Given the description of an element on the screen output the (x, y) to click on. 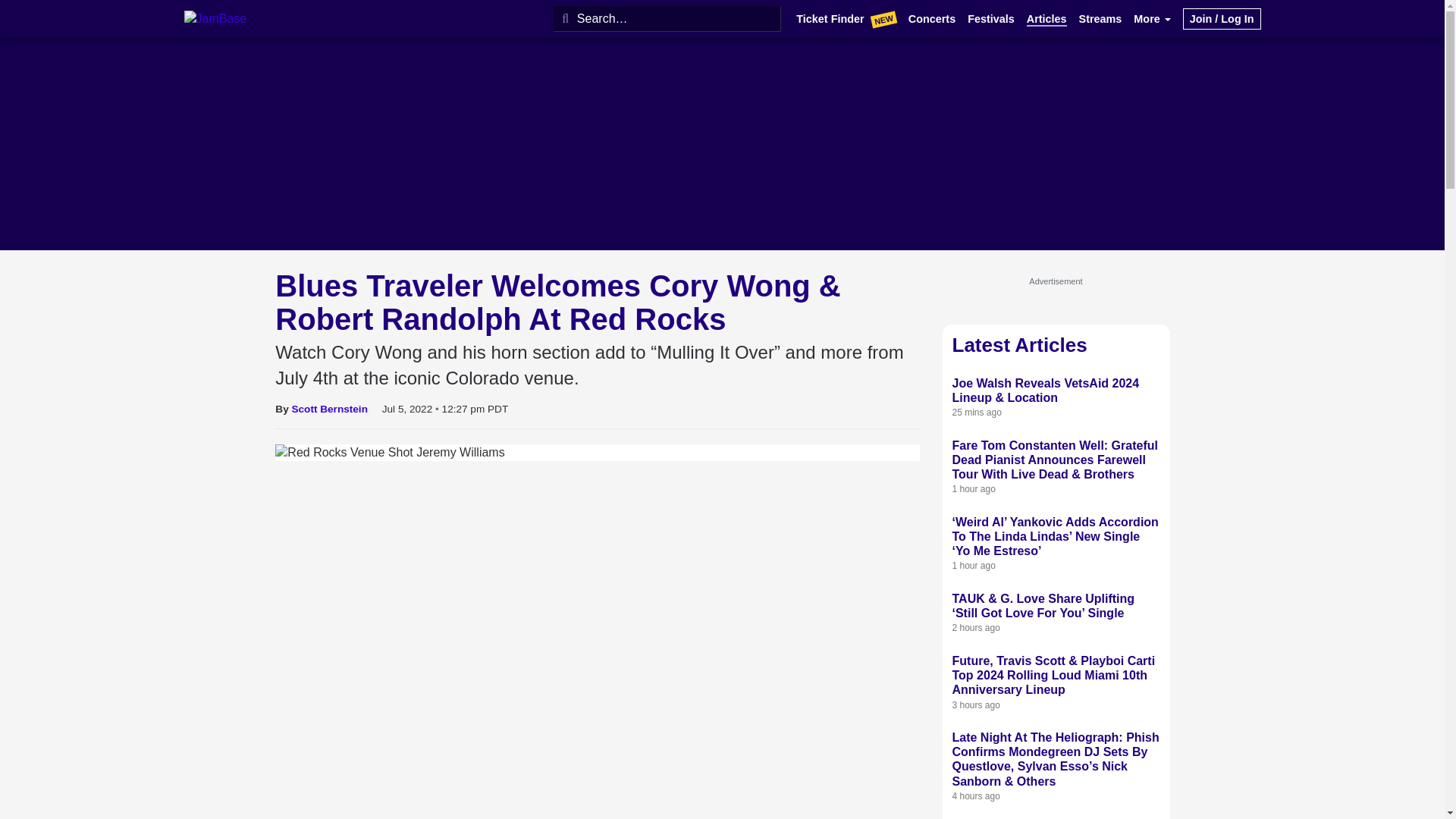
More (1152, 19)
Streams (1100, 18)
Articles (1046, 18)
Festivals (991, 18)
Concerts (931, 18)
Scott Bernstein (328, 408)
Ticket Finder NEW (845, 19)
